Given the description of an element on the screen output the (x, y) to click on. 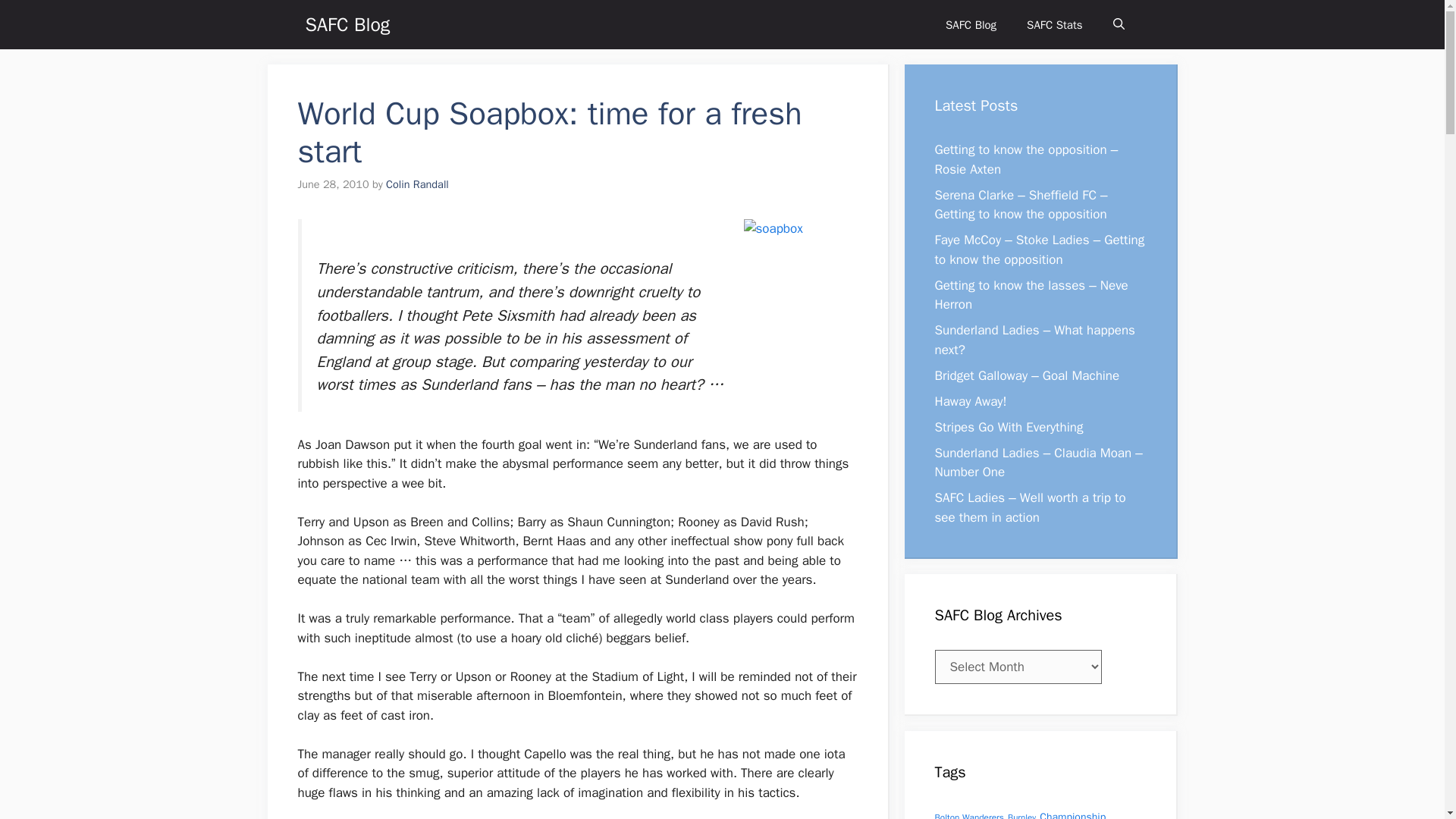
SAFC Stats (1054, 23)
SAFC Blog (970, 23)
View all posts by Colin Randall (416, 183)
Colin Randall (416, 183)
SAFC Blog (347, 24)
